Given the description of an element on the screen output the (x, y) to click on. 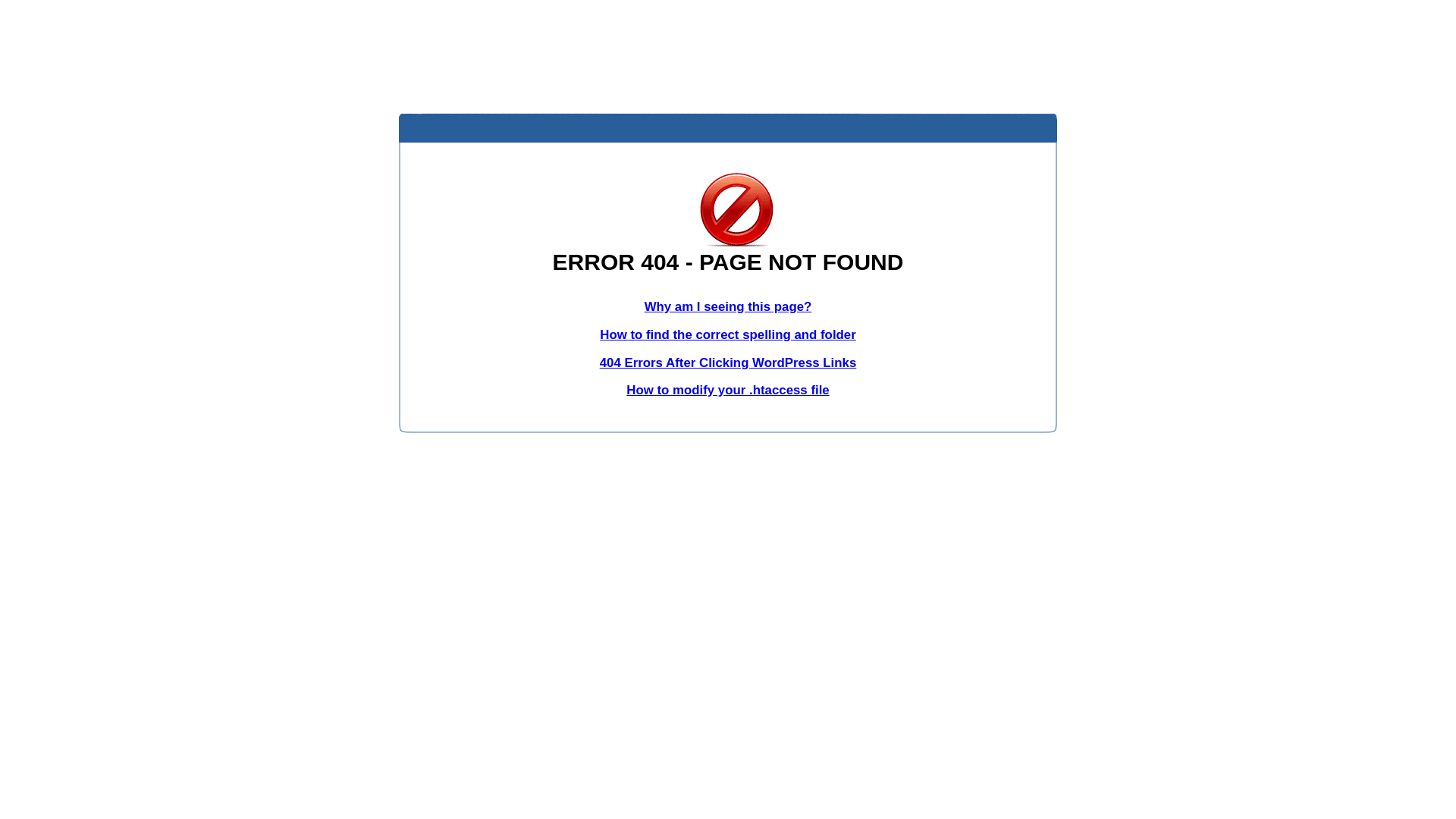
Why am I seeing this page? Element type: text (728, 306)
404 Errors After Clicking WordPress Links Element type: text (727, 362)
How to find the correct spelling and folder Element type: text (727, 334)
How to modify your .htaccess file Element type: text (727, 389)
